Given the description of an element on the screen output the (x, y) to click on. 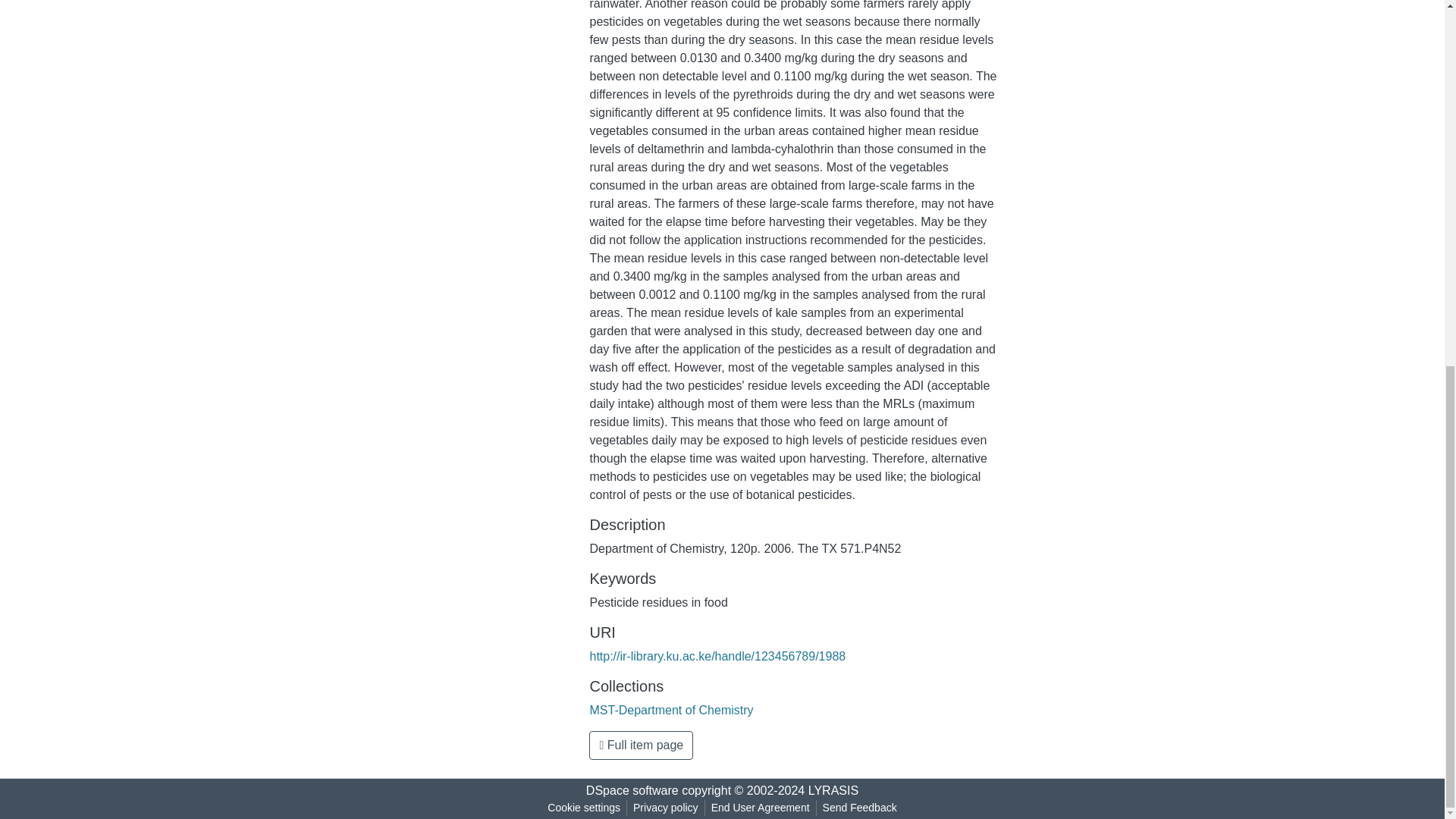
End User Agreement (759, 807)
Full item page (641, 745)
Send Feedback (859, 807)
Privacy policy (665, 807)
DSpace software (632, 789)
MST-Department of Chemistry (670, 709)
Cookie settings (583, 807)
LYRASIS (833, 789)
